Given the description of an element on the screen output the (x, y) to click on. 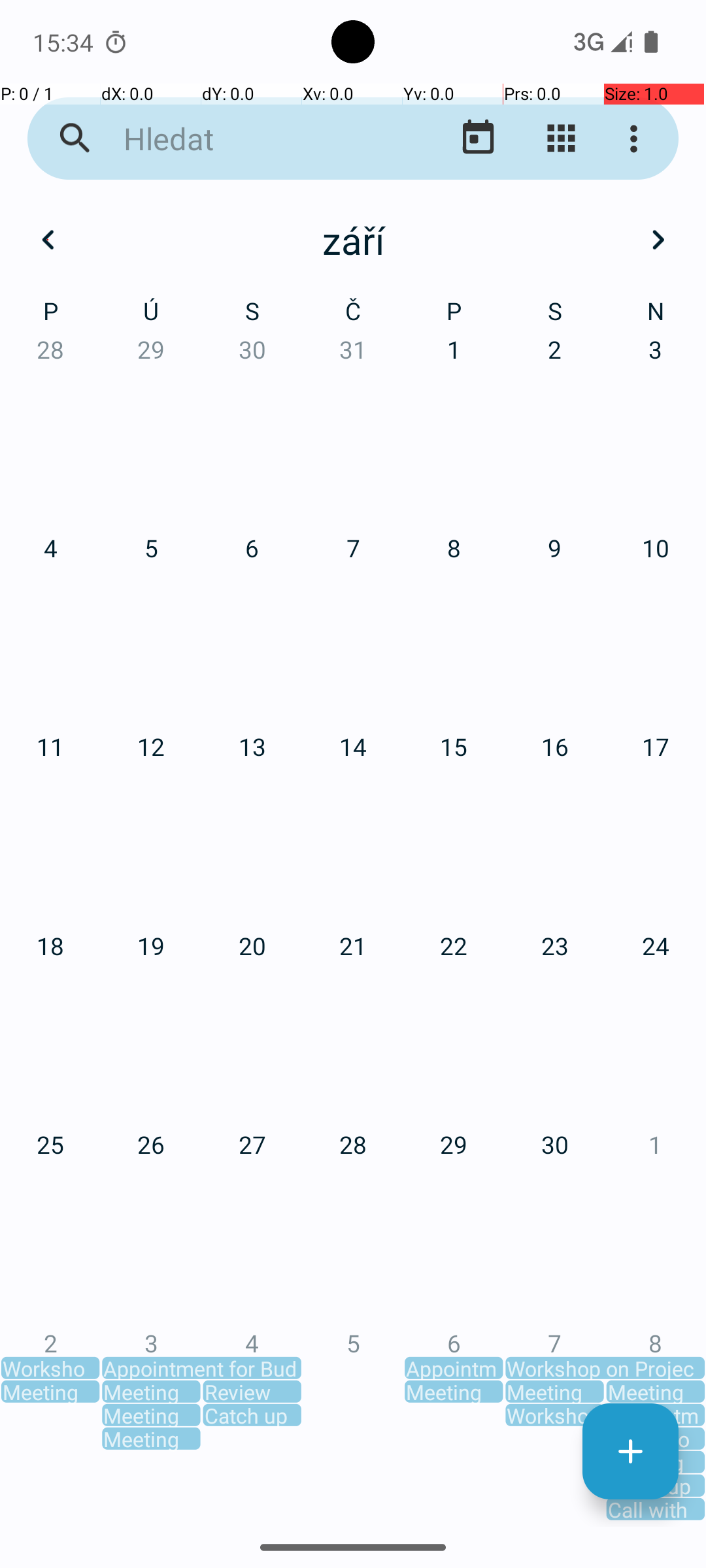
září Element type: android.widget.TextView (352, 239)
